Given the description of an element on the screen output the (x, y) to click on. 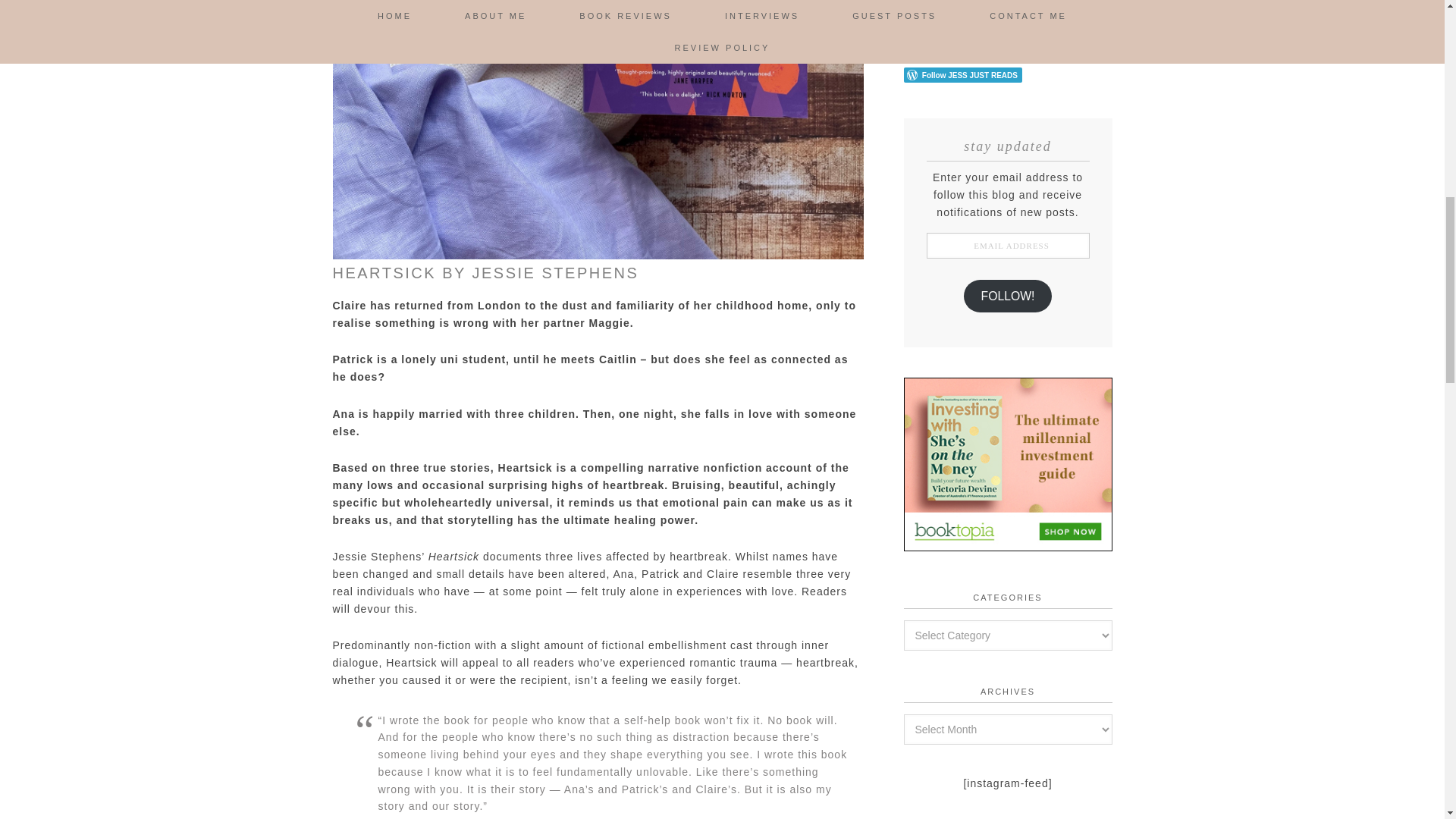
FOLLOW! (1007, 296)
Follow Button (1008, 74)
Instagram (992, 39)
Twitter (971, 39)
